Given the description of an element on the screen output the (x, y) to click on. 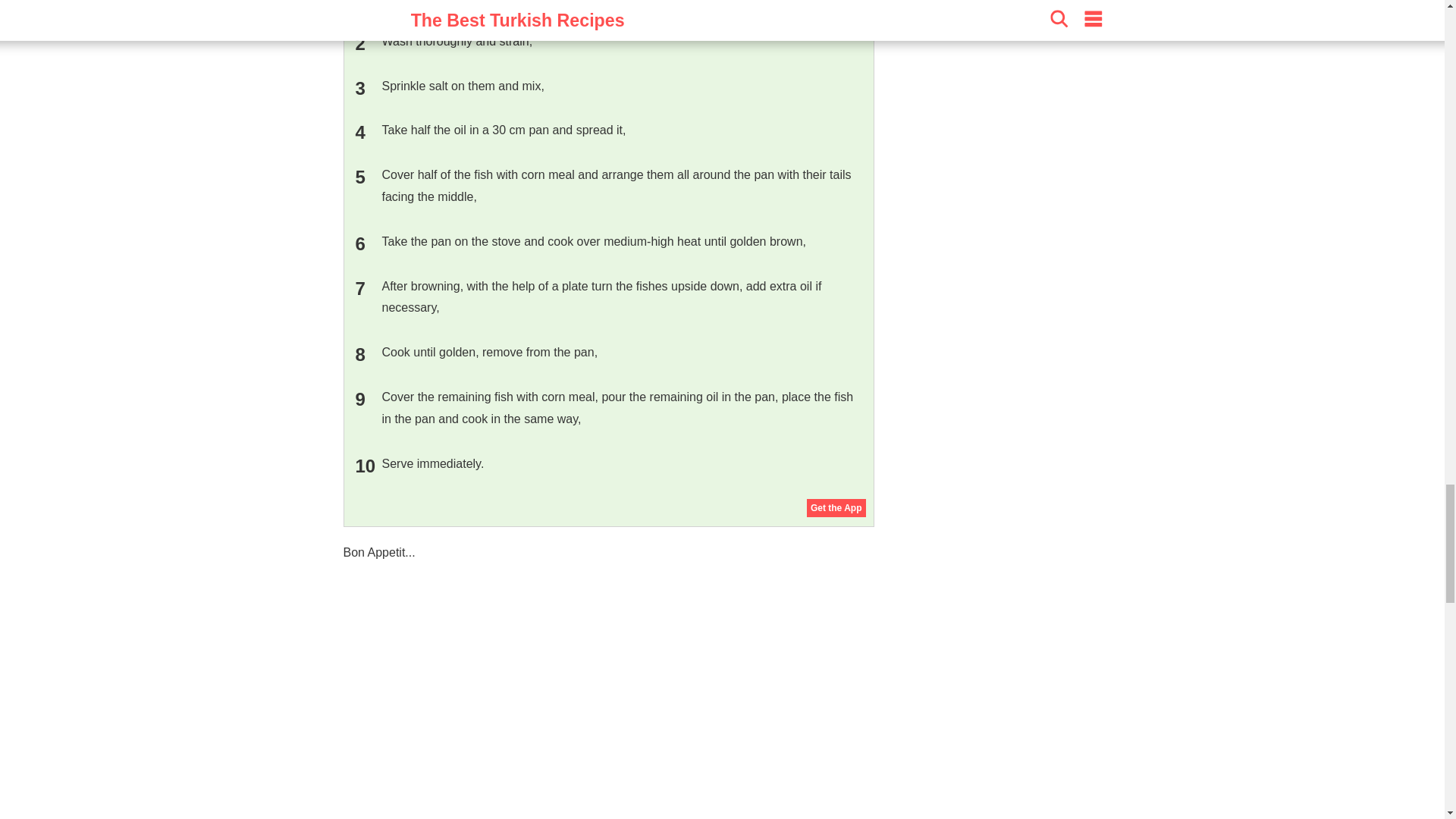
Get the App (836, 507)
